Given the description of an element on the screen output the (x, y) to click on. 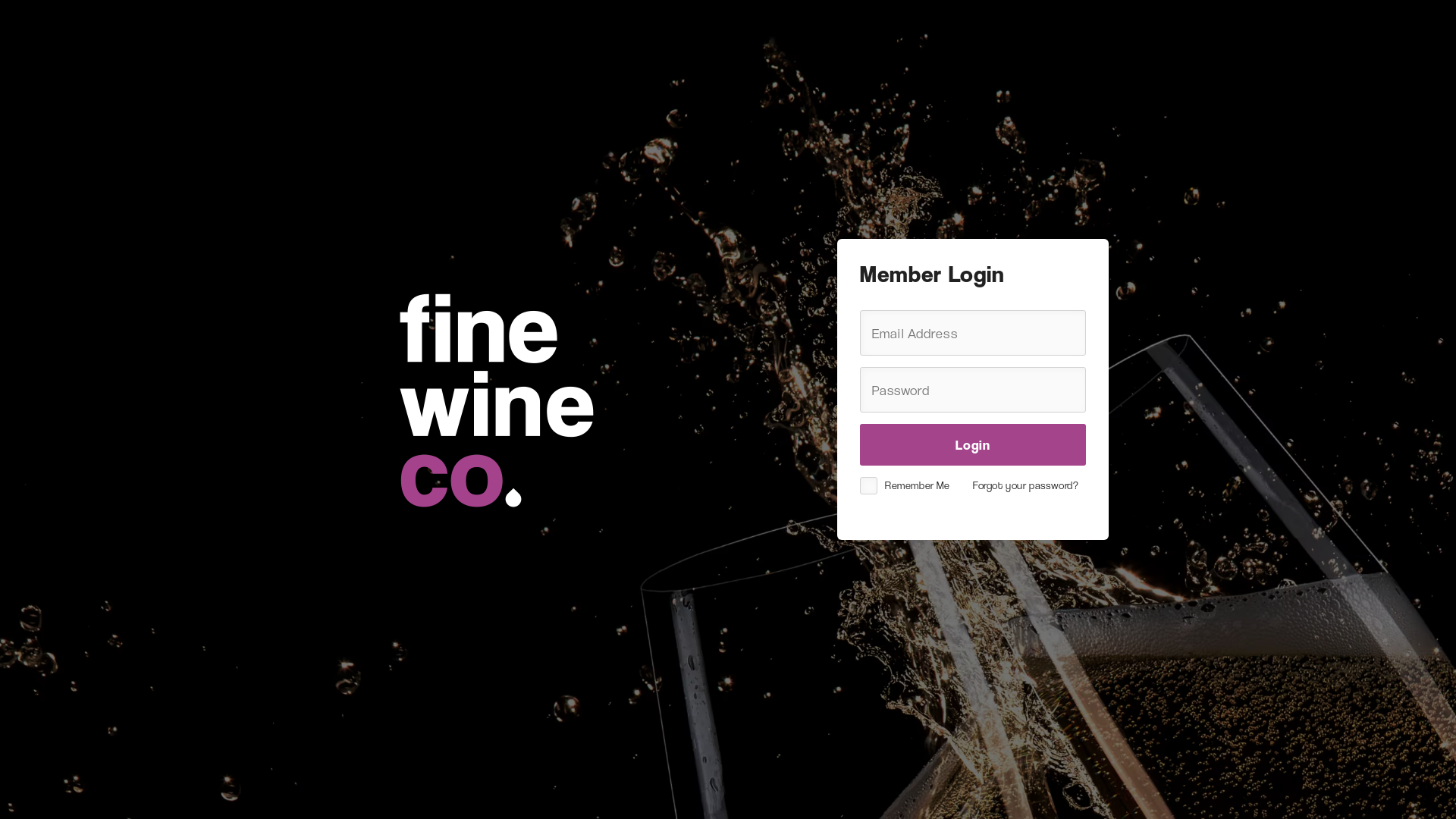
Login Element type: text (972, 444)
Forgot your password? Element type: text (1025, 484)
